Given the description of an element on the screen output the (x, y) to click on. 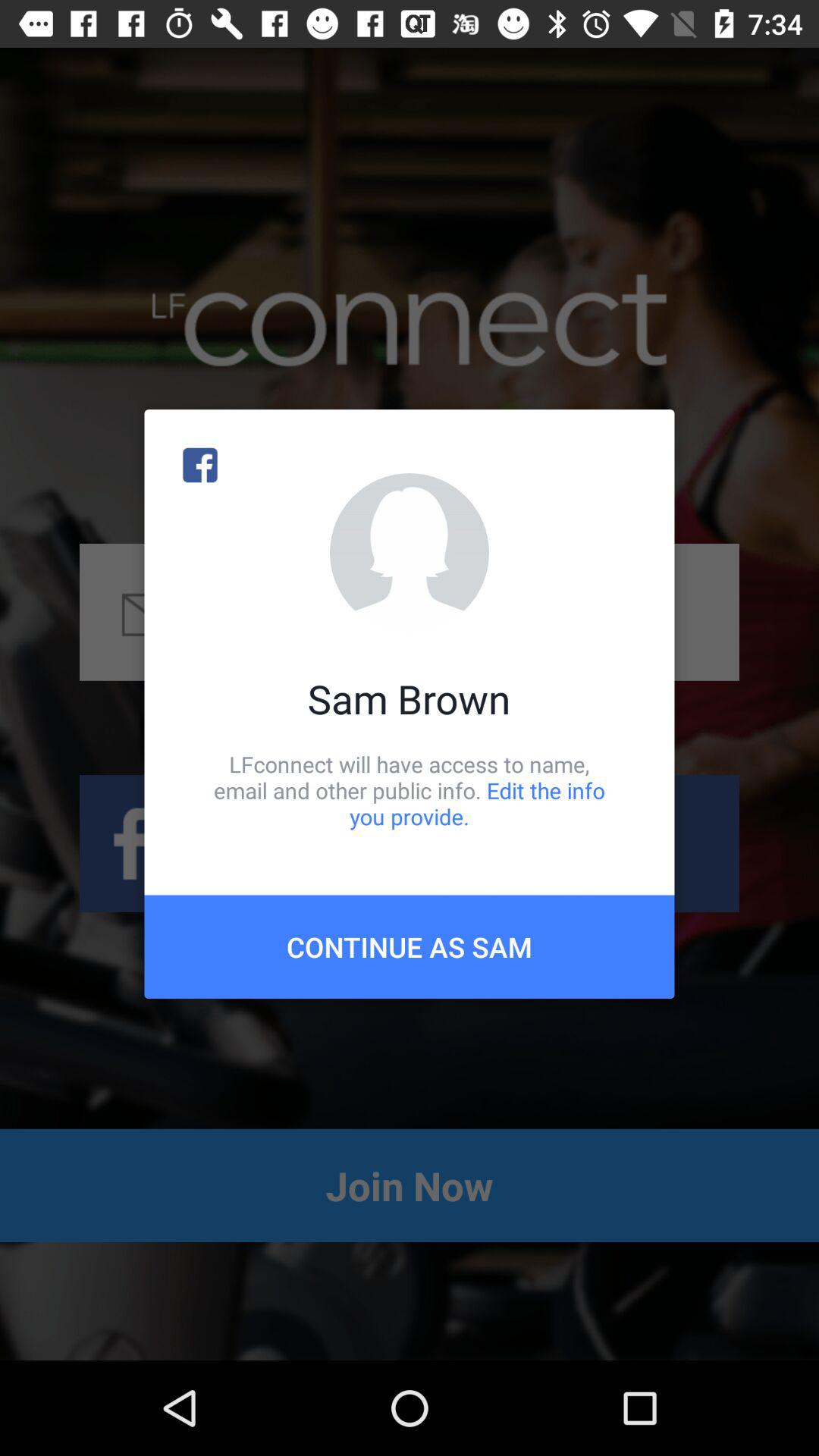
choose continue as sam icon (409, 946)
